Given the description of an element on the screen output the (x, y) to click on. 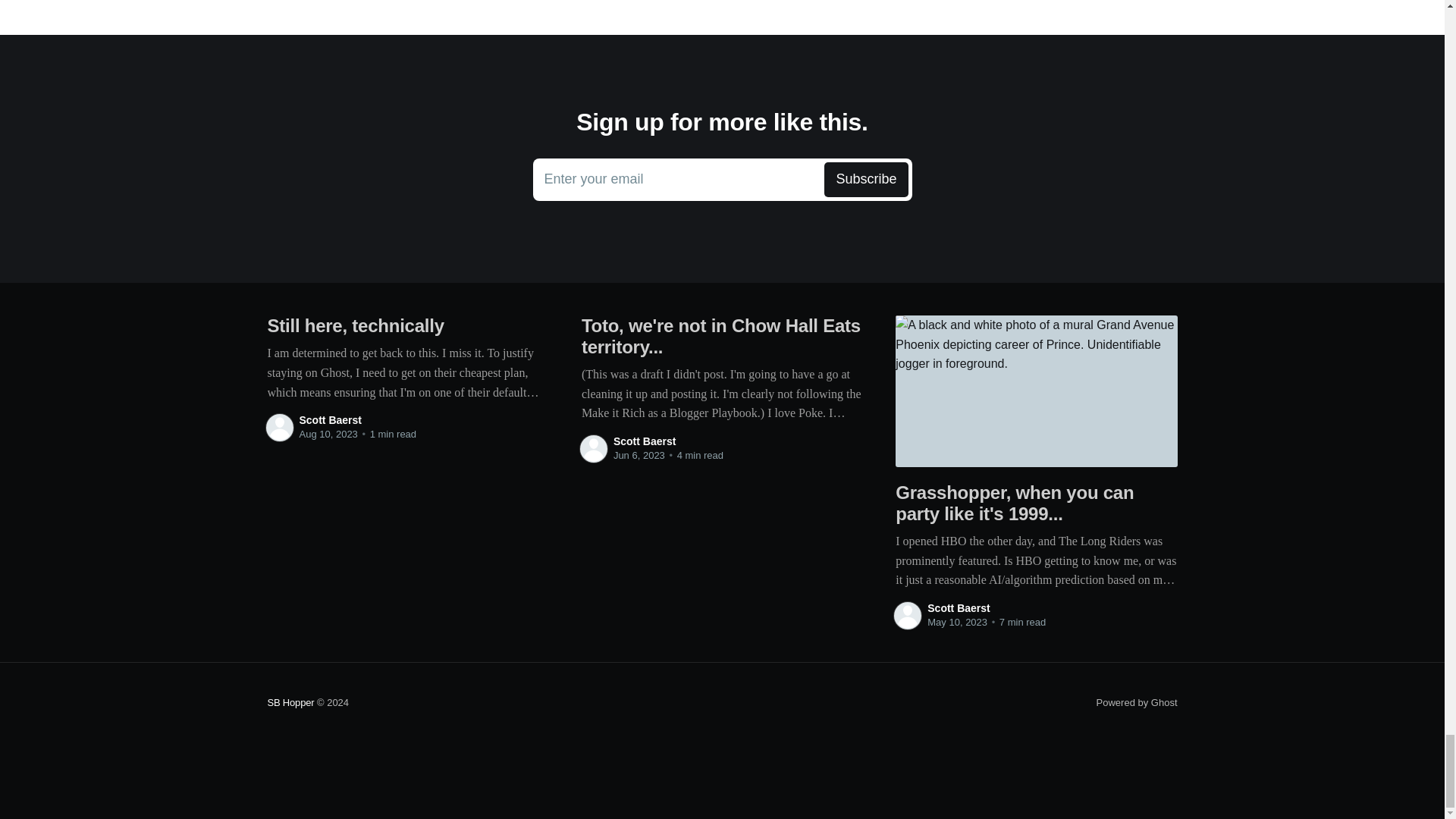
Powered by Ghost (721, 179)
SB Hopper (1136, 702)
Scott Baerst (290, 702)
Scott Baerst (329, 419)
Scott Baerst (958, 607)
